Given the description of an element on the screen output the (x, y) to click on. 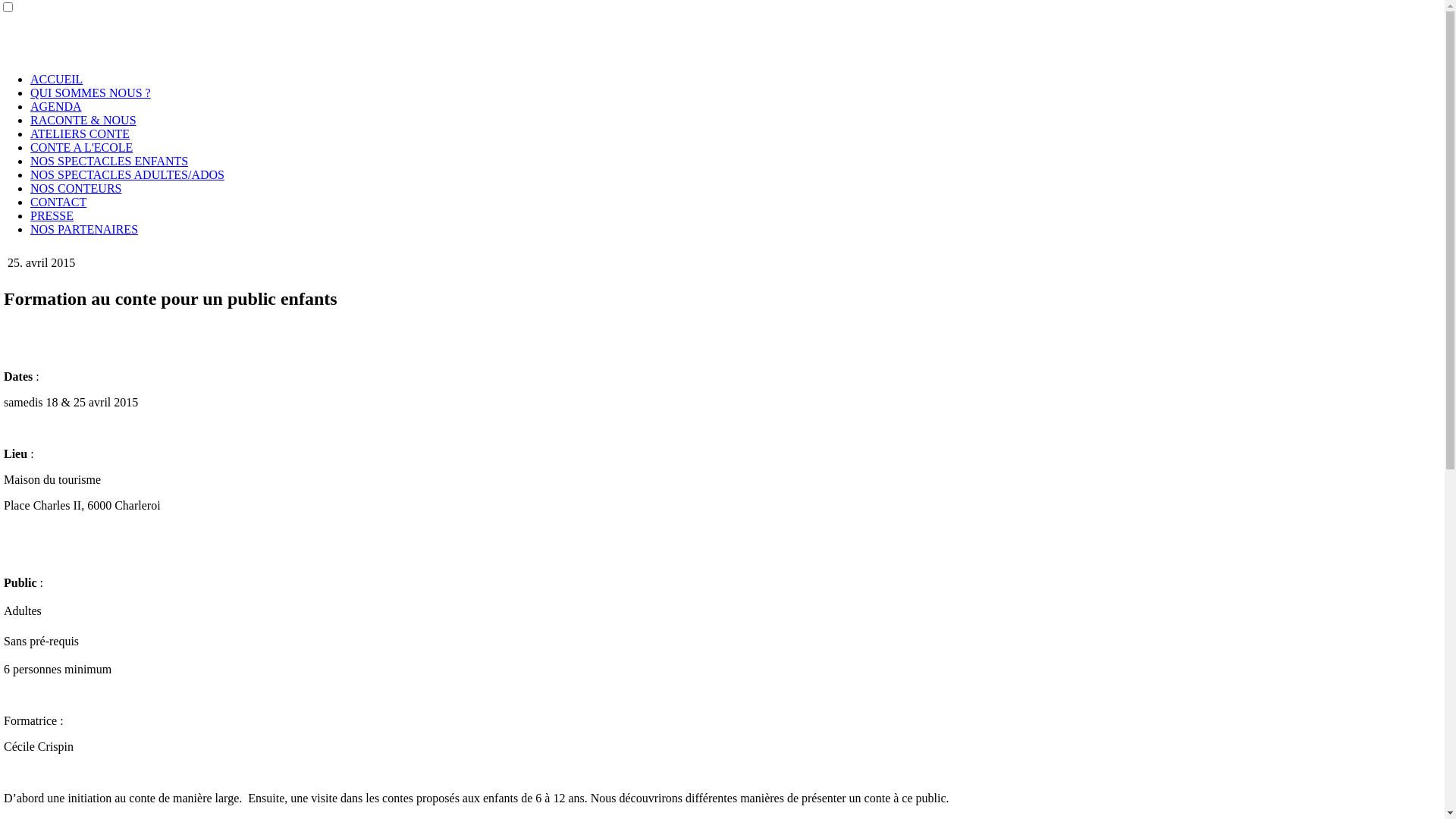
PRESSE Element type: text (51, 215)
NOS CONTEURS Element type: text (75, 188)
ACCUEIL Element type: text (56, 78)
ATELIERS CONTE Element type: text (79, 133)
AGENDA Element type: text (55, 106)
CONTE A L'ECOLE Element type: text (81, 147)
NOS SPECTACLES ADULTES/ADOS Element type: text (127, 174)
CONTACT Element type: text (58, 201)
RACONTE & NOUS Element type: text (83, 119)
NOS SPECTACLES ENFANTS Element type: text (109, 160)
QUI SOMMES NOUS ? Element type: text (90, 92)
NOS PARTENAIRES Element type: text (84, 228)
